Given the description of an element on the screen output the (x, y) to click on. 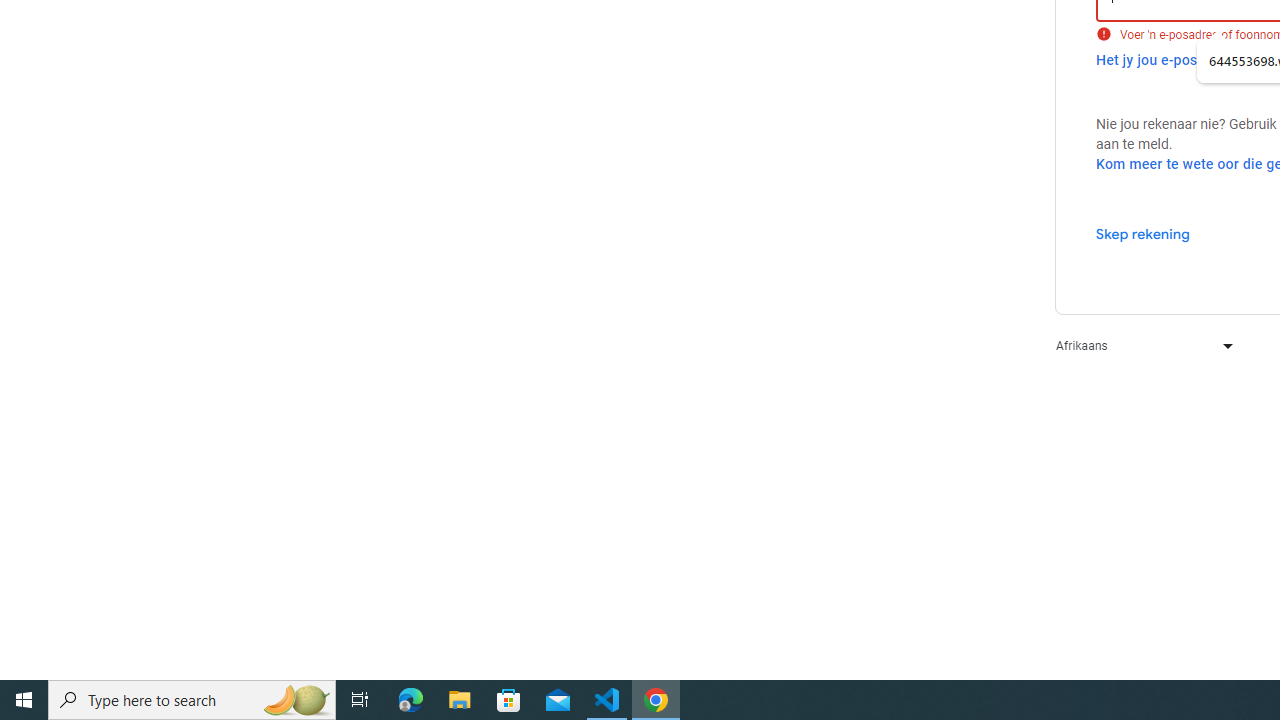
Skep rekening (1142, 233)
Afrikaans (1139, 345)
